Given the description of an element on the screen output the (x, y) to click on. 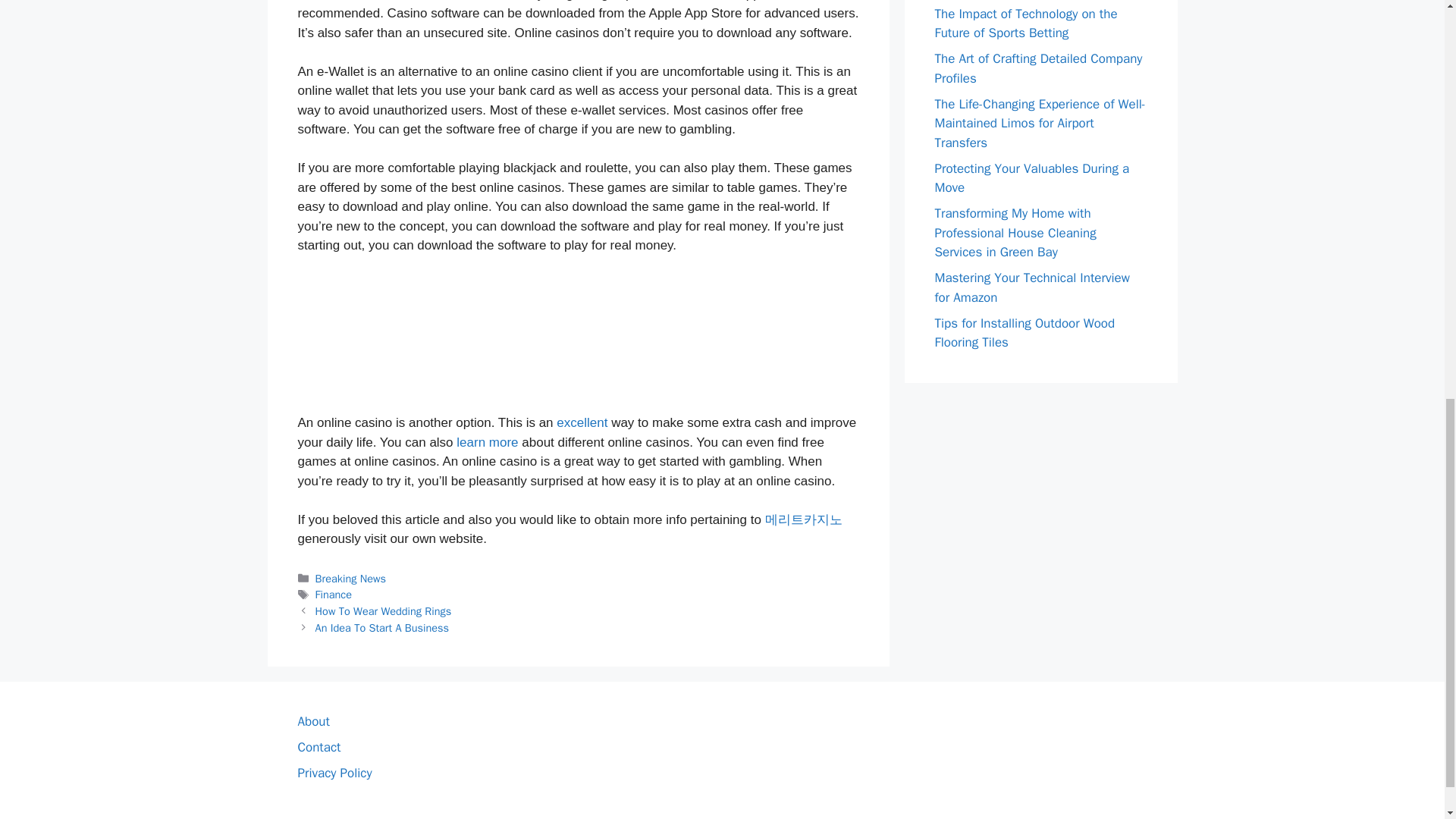
Finance (333, 594)
How To Wear Wedding Rings (383, 611)
learn more (487, 441)
The Impact of Technology on the Future of Sports Betting (1025, 23)
Breaking News (350, 578)
An Idea To Start A Business (381, 627)
The Art of Crafting Detailed Company Profiles (1037, 68)
excellent (581, 422)
